Given the description of an element on the screen output the (x, y) to click on. 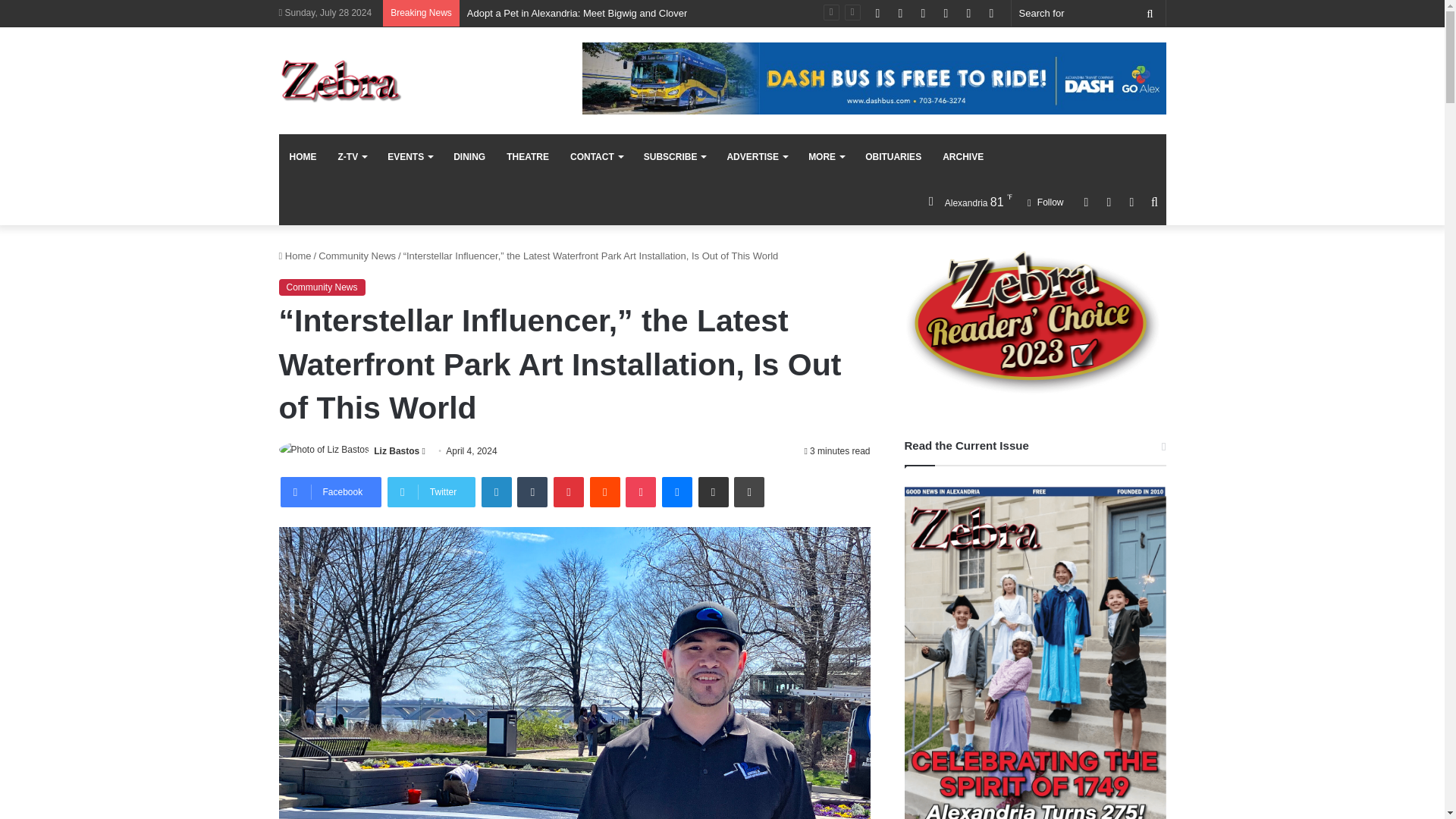
EVENTS (409, 156)
DINING (469, 156)
Twitter (431, 491)
HOME (303, 156)
ADVERTISE (756, 156)
Z-TV (352, 156)
LinkedIn (496, 491)
Search for (1149, 13)
CONTACT (596, 156)
Adopt a Pet in Alexandria: Meet Bigwig and Clover (577, 12)
The Zebra--Good News in Alexandria (341, 80)
Reddit (604, 491)
Search for (1088, 13)
DASH BANNER (874, 78)
THEATRE (527, 156)
